Given the description of an element on the screen output the (x, y) to click on. 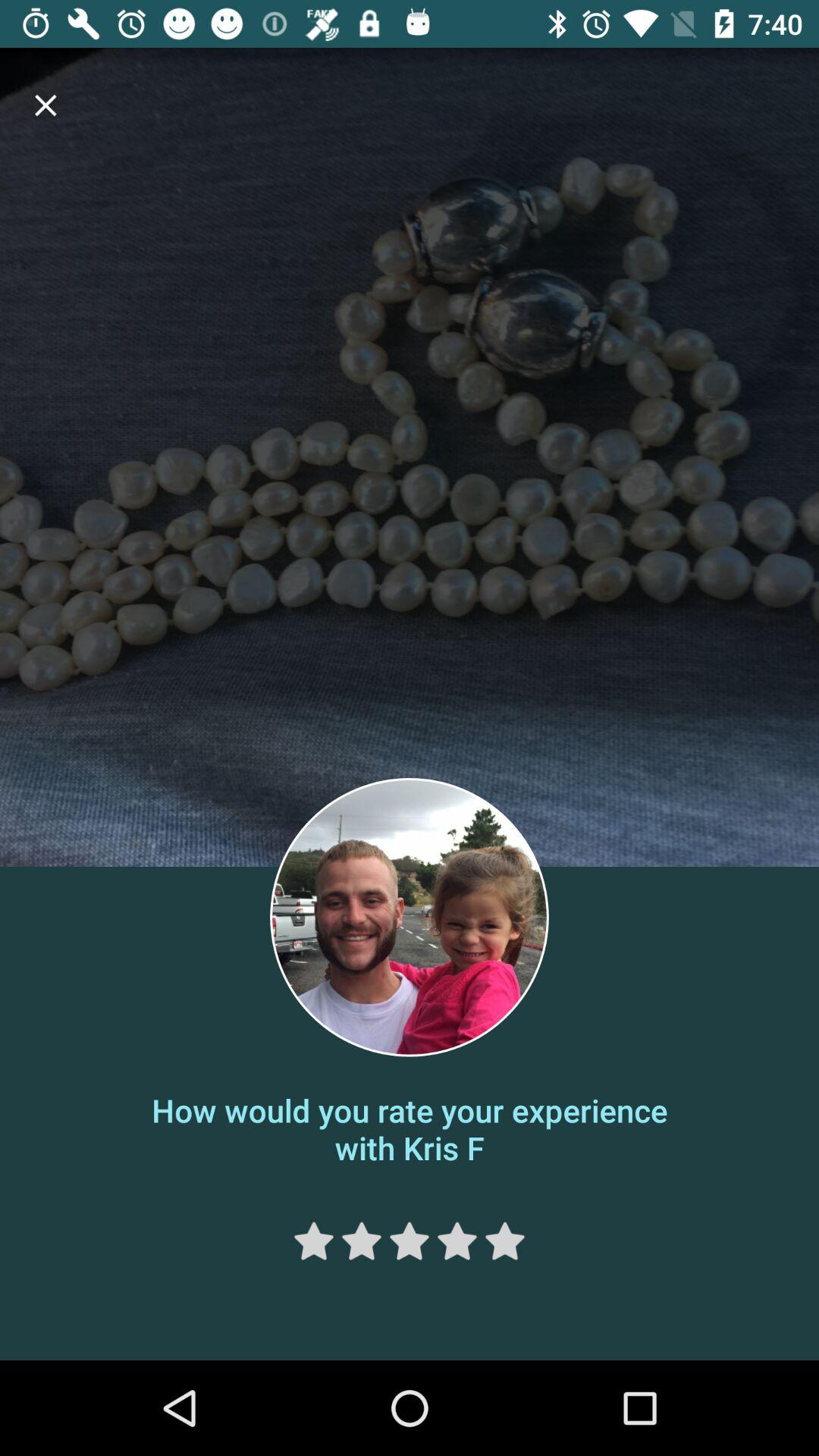
choose five star rating (504, 1240)
